Given the description of an element on the screen output the (x, y) to click on. 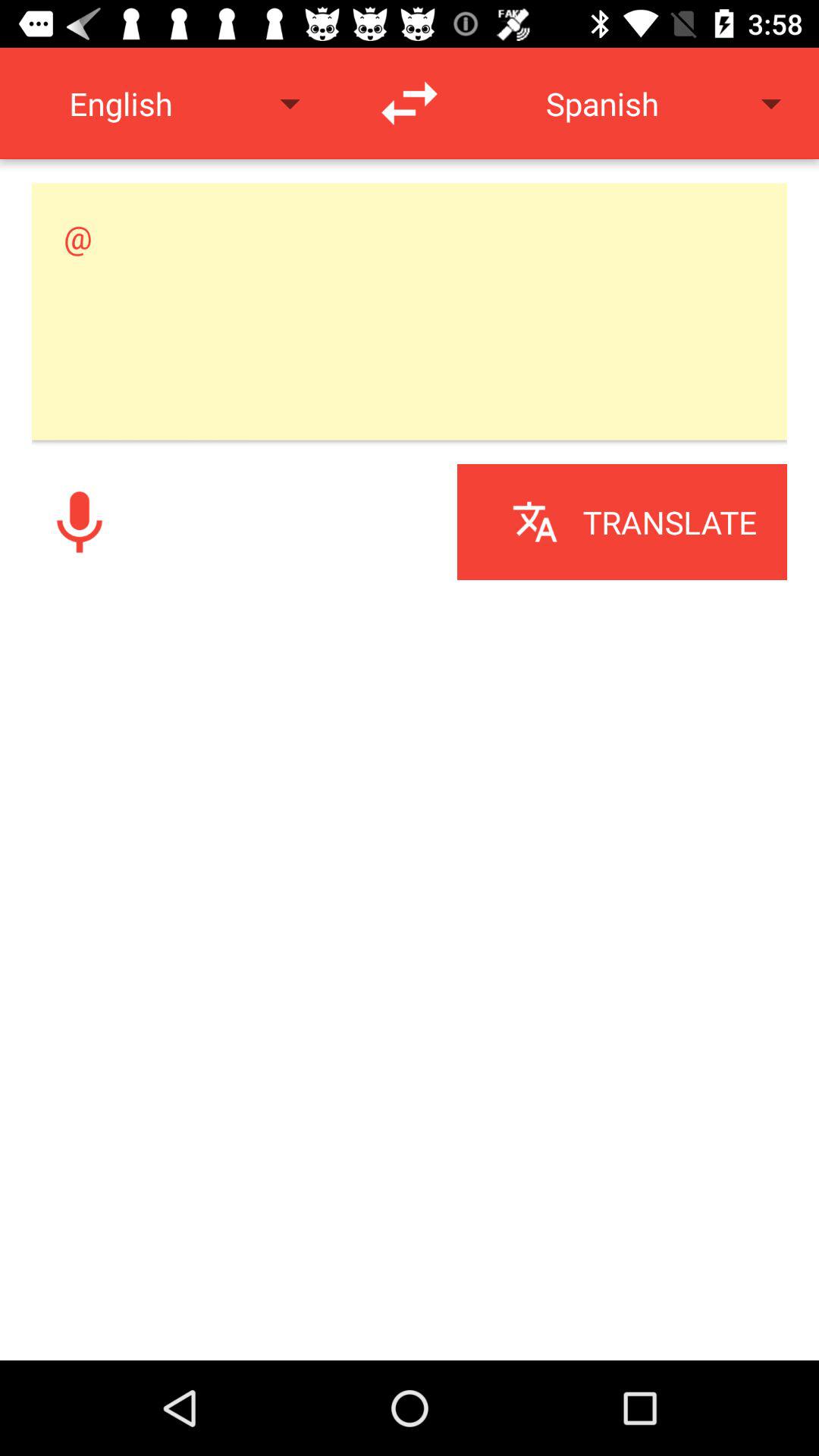
swap languages (409, 103)
